Given the description of an element on the screen output the (x, y) to click on. 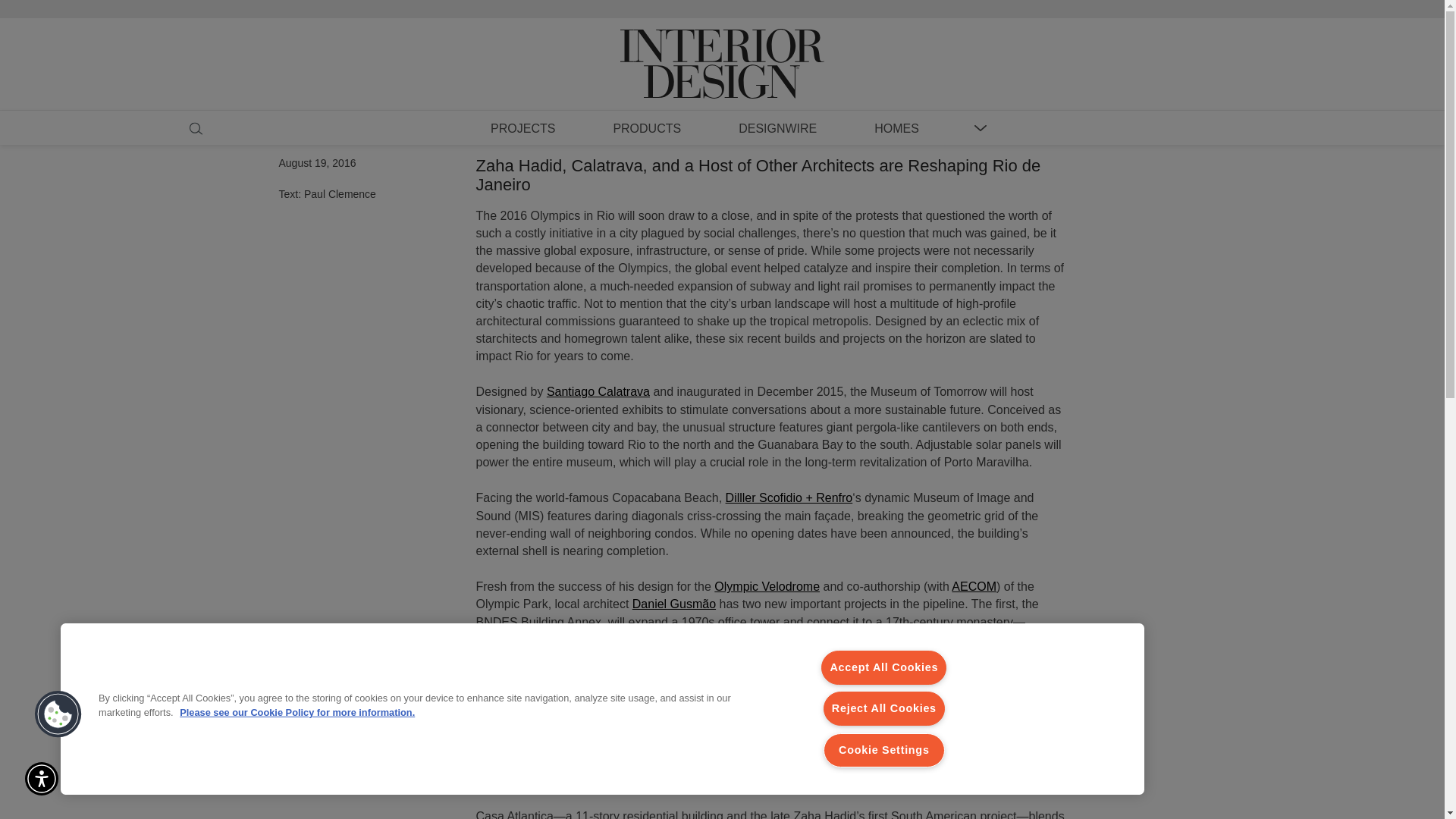
DESIGNWIRE (777, 127)
AECOM (973, 585)
Accessibility Menu (41, 778)
PROJECTS (522, 127)
Olympic Velodrome (766, 585)
HOMES (896, 127)
PRODUCTS (646, 127)
Interior Design (721, 49)
Cookies Button (57, 714)
Santiago Calatrava (598, 391)
